Given the description of an element on the screen output the (x, y) to click on. 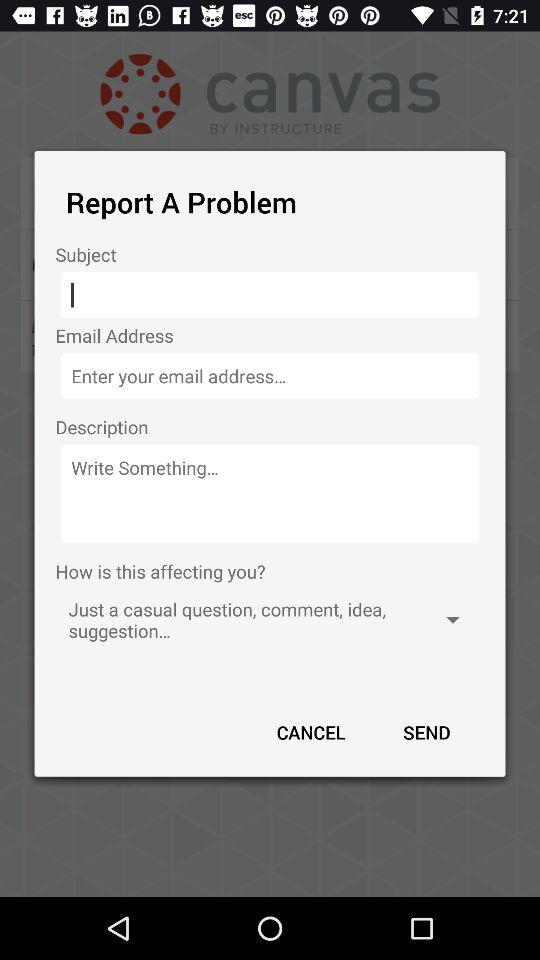
press the app below the just a casual app (311, 732)
